Given the description of an element on the screen output the (x, y) to click on. 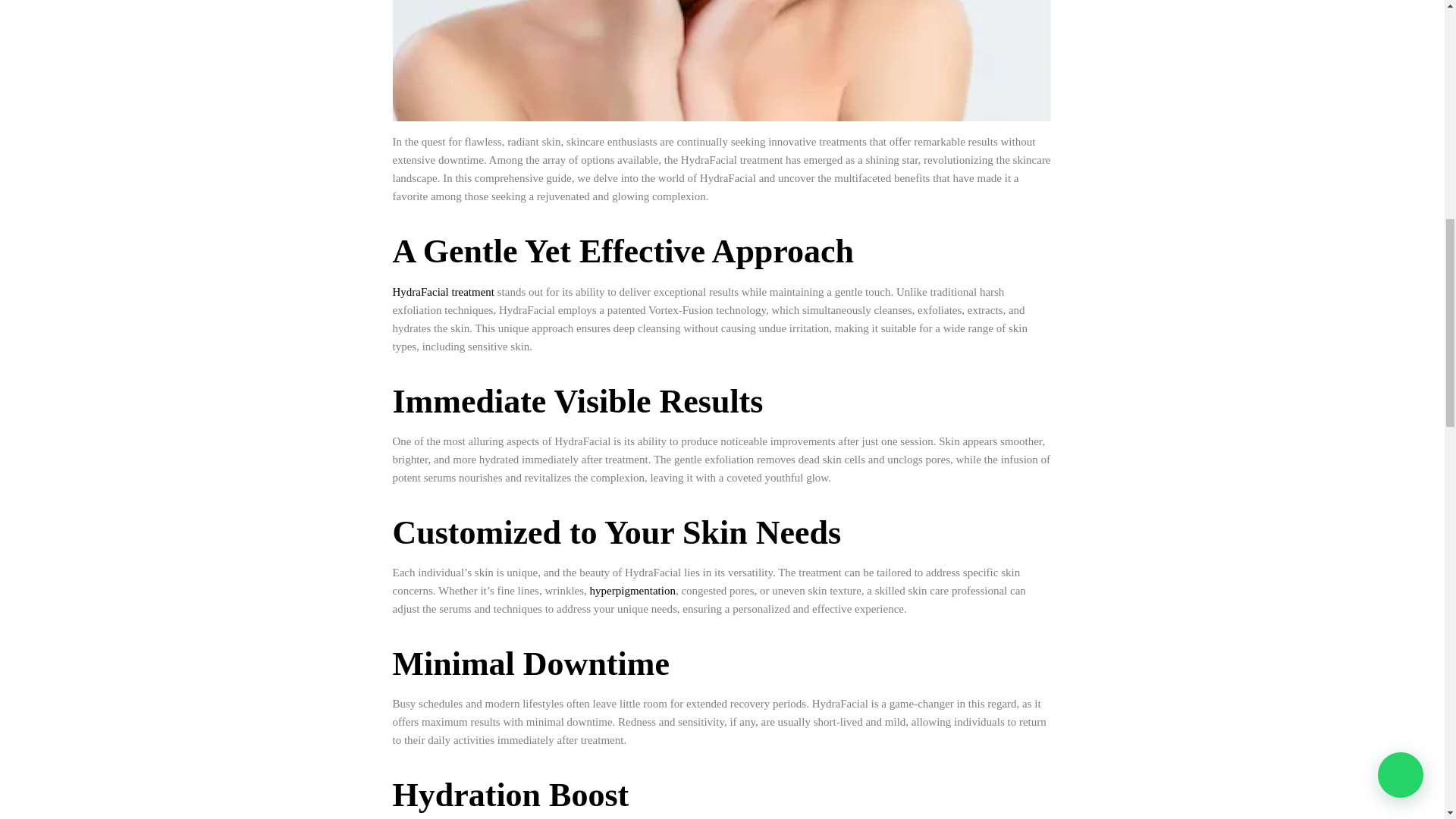
hyperpigmentation (632, 590)
HydraFacial treatment (444, 291)
Exploring The Marvelous Benefits Of Hydrafacial Treatment 1 (722, 60)
